Given the description of an element on the screen output the (x, y) to click on. 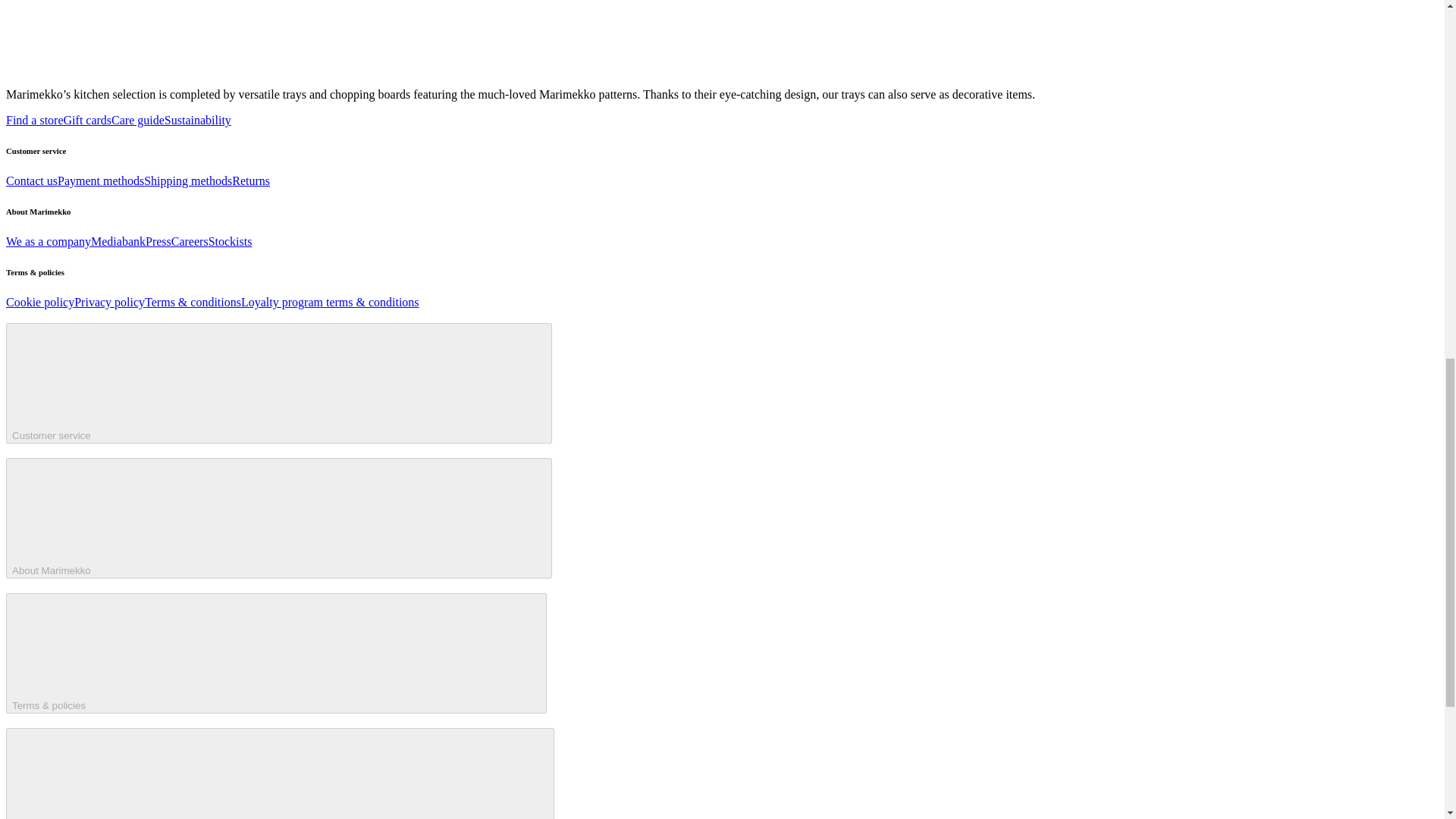
Returns (250, 180)
Care guide (138, 119)
Careers (189, 241)
We as a company (47, 241)
Gift cards (88, 119)
Privacy policy (109, 301)
Stockists (229, 241)
Shipping methods (187, 180)
Find a store (34, 119)
Press (158, 241)
